Given the description of an element on the screen output the (x, y) to click on. 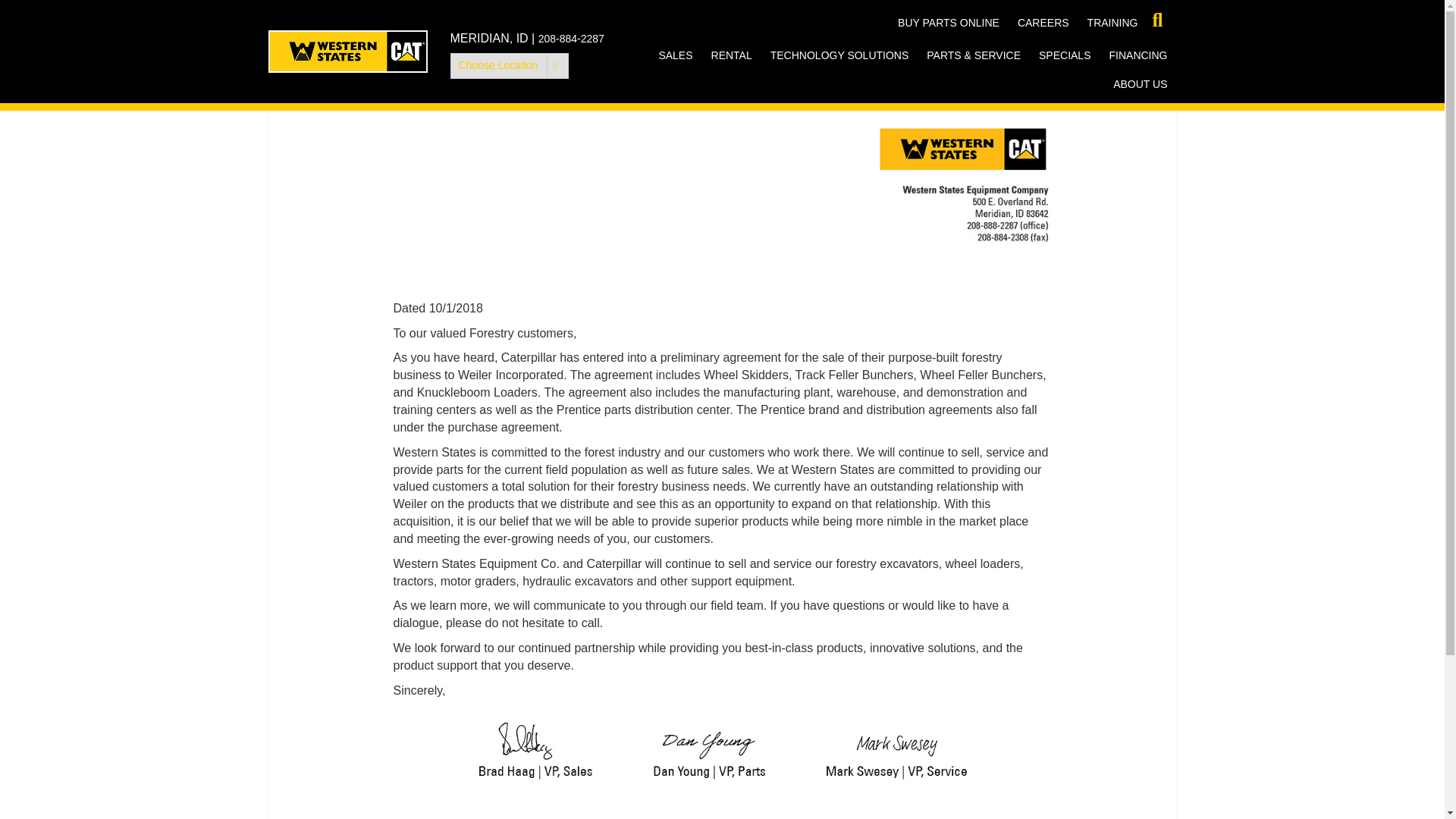
NEW EQUIPMENT (724, 83)
CAREERS (1043, 22)
208-884-2287 (571, 38)
Search (18, 18)
TRAINING (1112, 22)
SALES (675, 54)
Choose Location (509, 65)
BUY PARTS ONLINE (948, 22)
Western States Cat (347, 51)
